Given the description of an element on the screen output the (x, y) to click on. 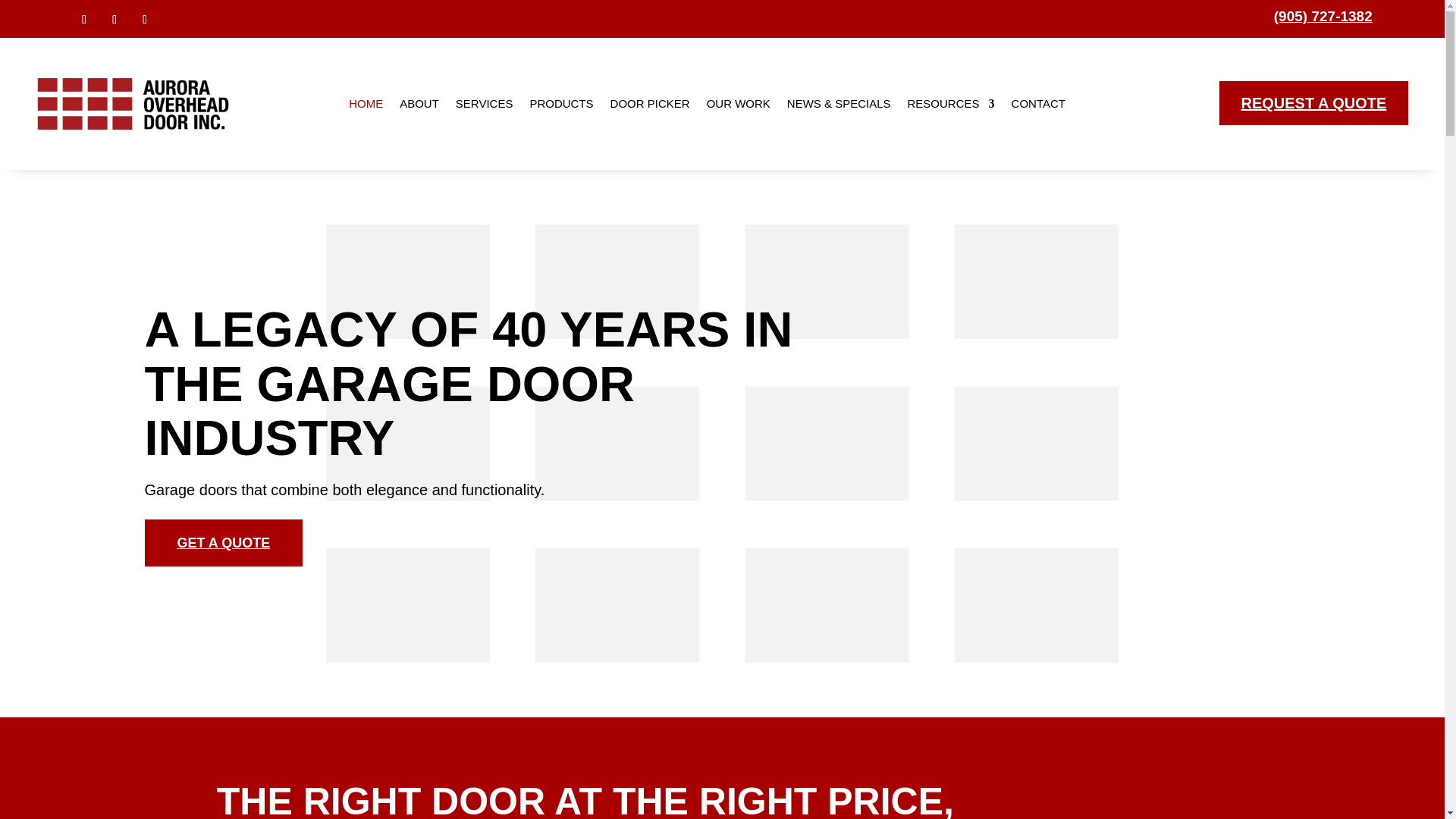
HOME (365, 103)
PRODUCTS (560, 103)
RESOURCES (950, 103)
DOOR PICKER (650, 103)
REQUEST A QUOTE (1314, 103)
CONTACT (1038, 103)
SERVICES (484, 103)
Follow on X (144, 19)
OUR WORK (738, 103)
ABOUT (418, 103)
Follow on Facebook (83, 19)
Follow on Instagram (113, 19)
GET A QUOTE (223, 543)
